Given the description of an element on the screen output the (x, y) to click on. 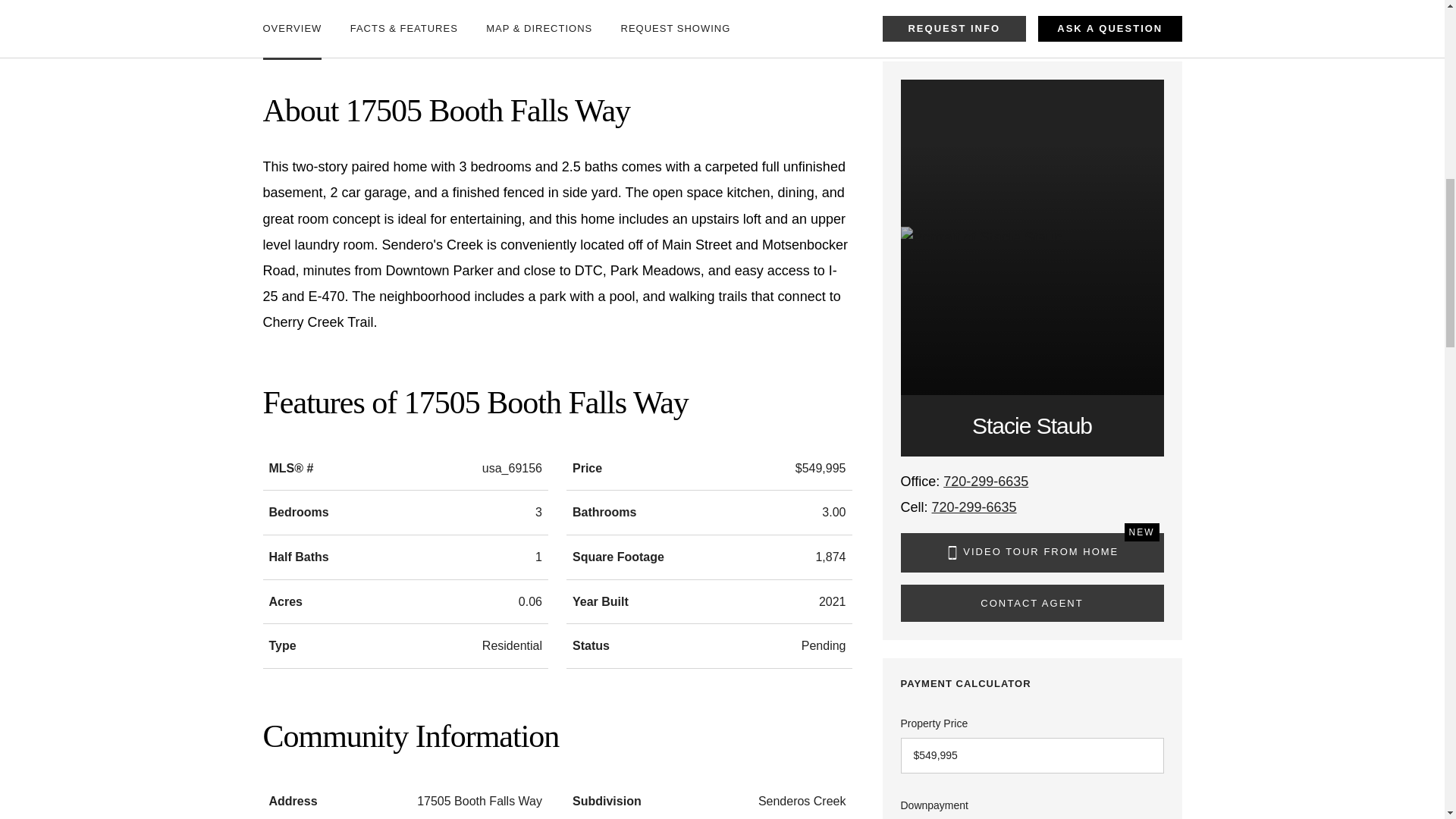
OVERVIEW (291, 21)
MOBILE ICON (951, 552)
REQUEST SHOWING (675, 21)
